Given the description of an element on the screen output the (x, y) to click on. 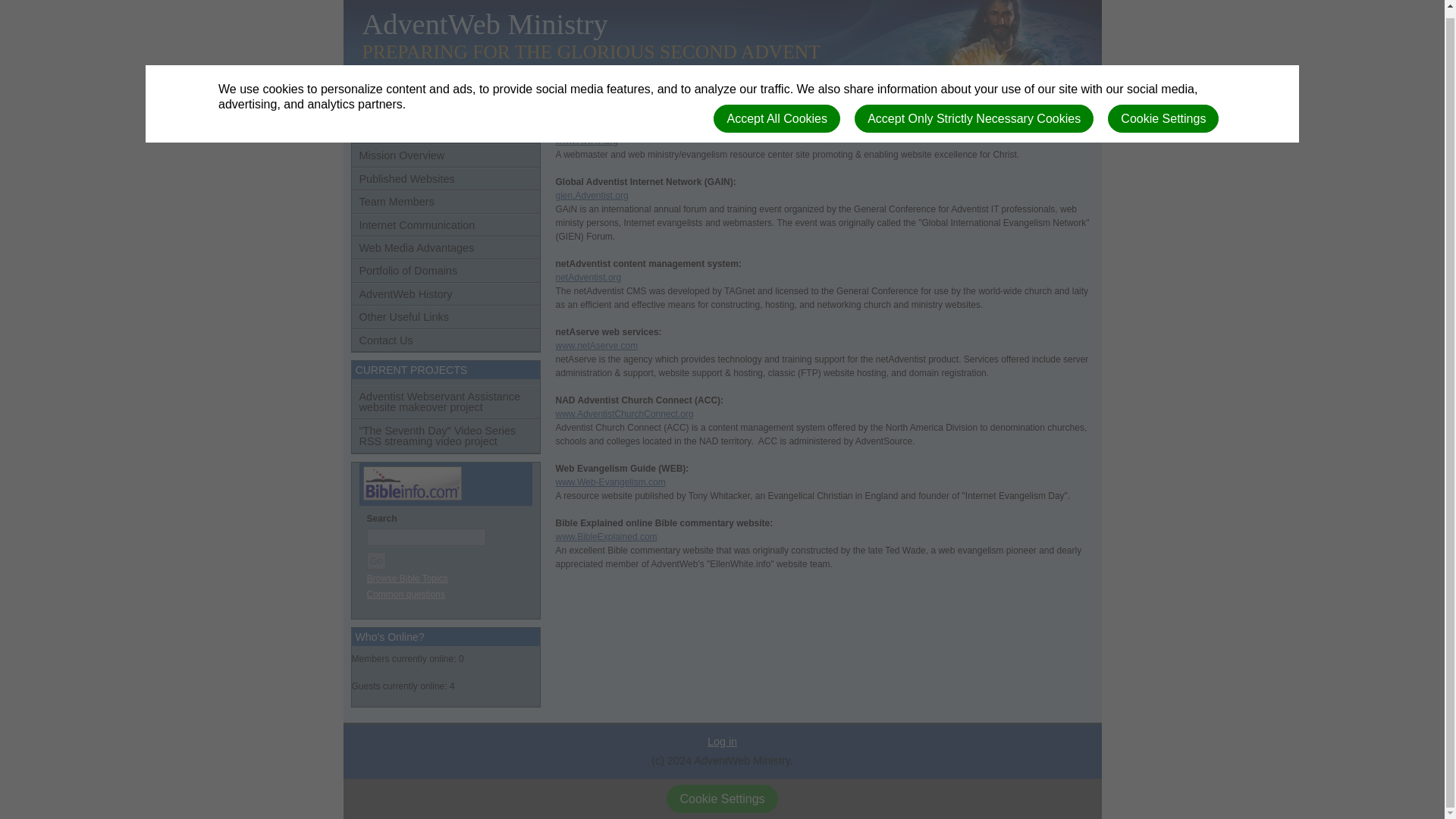
netAdventist.org (587, 276)
www.AdventistChurchConnect.org (623, 413)
Log in (721, 741)
Browse Bible Topics (407, 578)
gien.Adventist.org (590, 195)
Common questions (405, 593)
Mission Overview (446, 155)
Web Evangelism Bulletin newsletter (609, 481)
Go (376, 560)
Adventist Webservant Assistance website makeover project (446, 401)
